Given the description of an element on the screen output the (x, y) to click on. 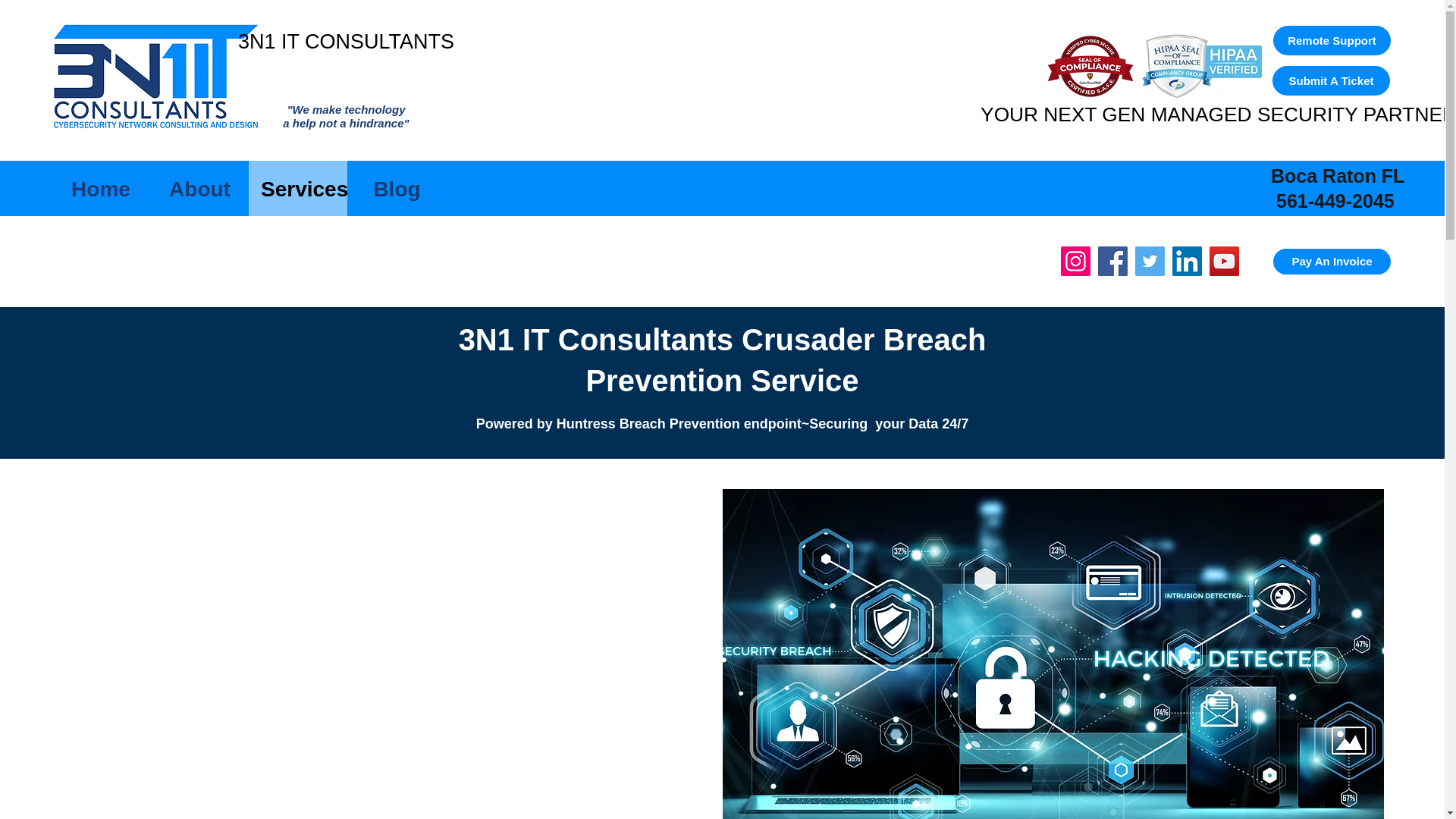
Remote Support (1332, 40)
Home (99, 188)
About (198, 188)
Submit A Ticket (1330, 80)
Services (297, 188)
Pay An Invoice (346, 45)
Blog (1332, 260)
